Given the description of an element on the screen output the (x, y) to click on. 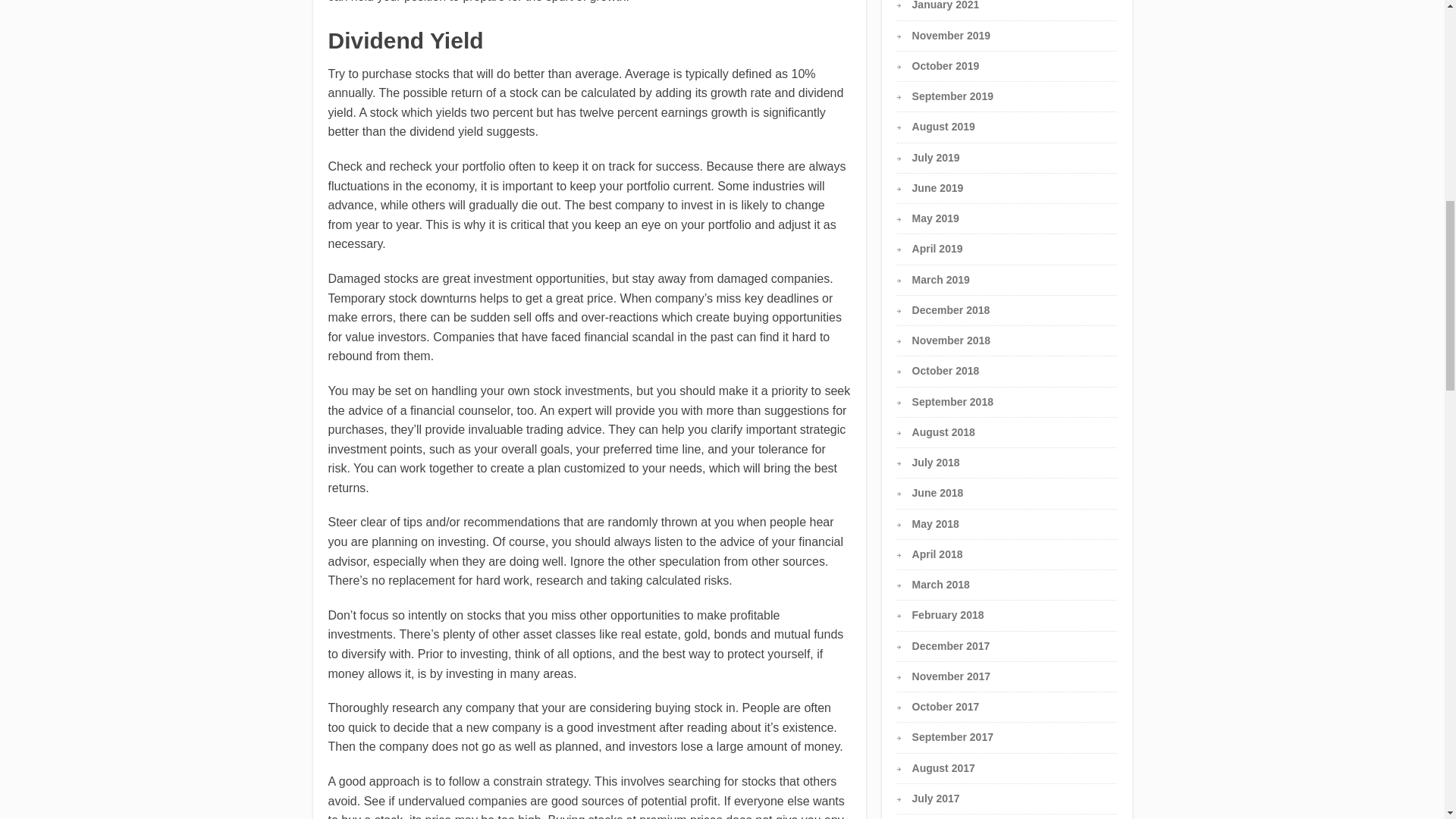
August 2019 (943, 126)
March 2019 (940, 278)
November 2018 (951, 340)
October 2018 (945, 370)
January 2021 (945, 5)
September 2019 (952, 96)
September 2018 (952, 401)
April 2019 (937, 248)
May 2019 (935, 218)
July 2019 (935, 157)
